Given the description of an element on the screen output the (x, y) to click on. 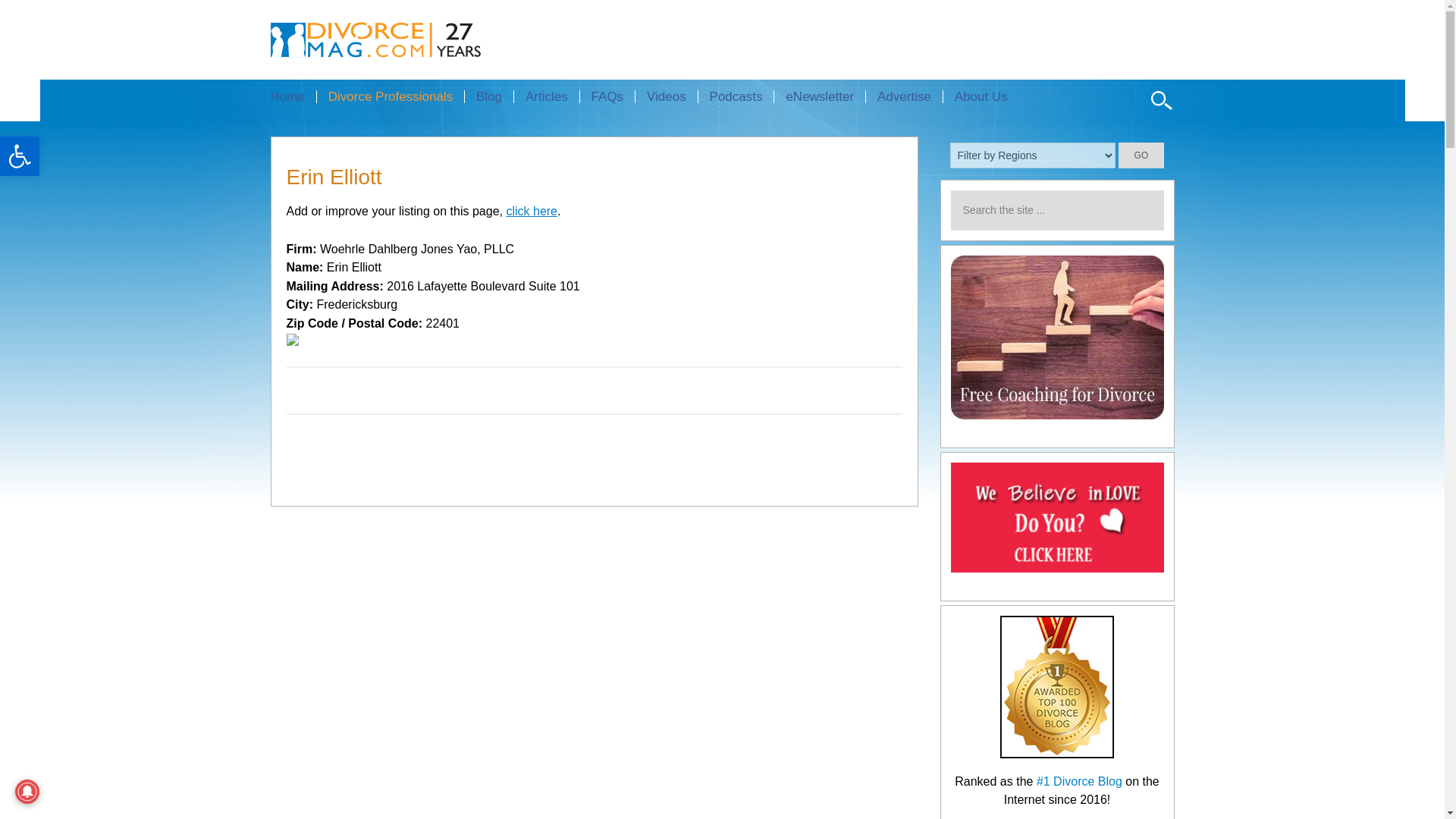
Open toolbar (19, 156)
Articles (546, 96)
Home (292, 96)
Divorce Professionals (389, 96)
Blog (488, 96)
Select Region (1032, 155)
Accessibility Tools (19, 156)
Divorce Magazine (401, 39)
